Given the description of an element on the screen output the (x, y) to click on. 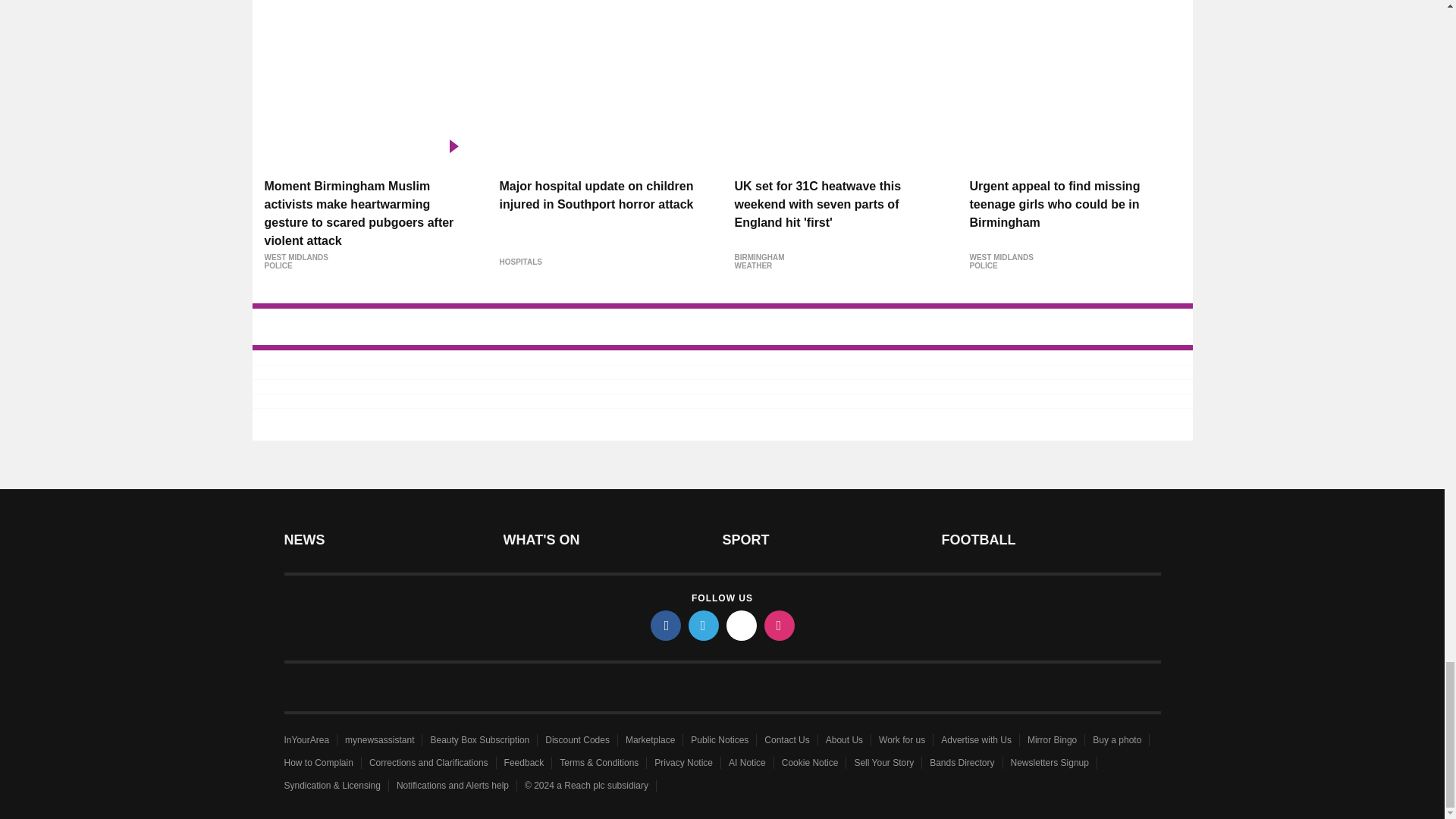
tiktok (741, 625)
instagram (779, 625)
facebook (665, 625)
twitter (703, 625)
